Given the description of an element on the screen output the (x, y) to click on. 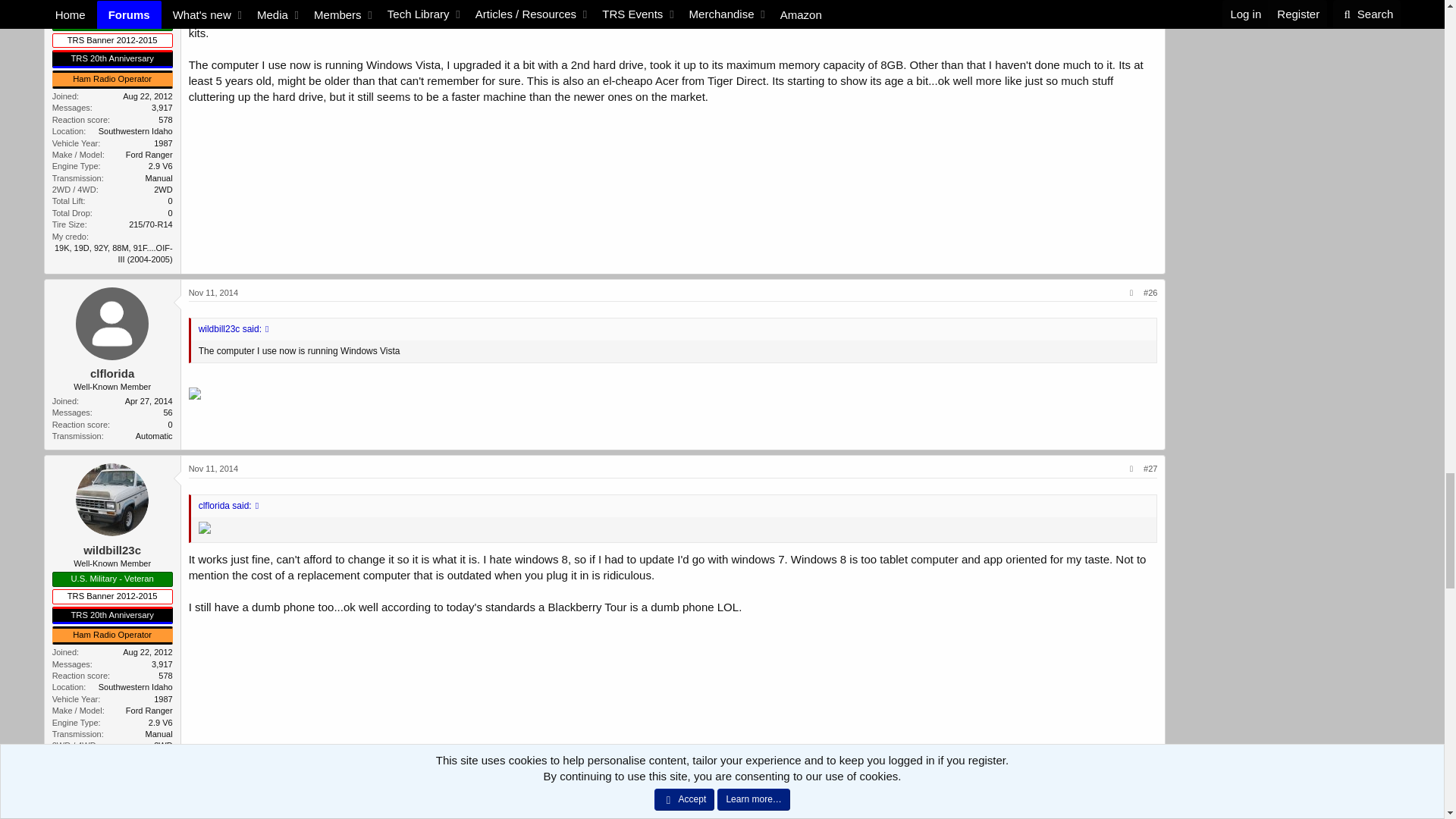
Nov 11, 2014 at 7:55 PM (213, 468)
Nov 11, 2014 at 2:01 AM (213, 292)
